Given the description of an element on the screen output the (x, y) to click on. 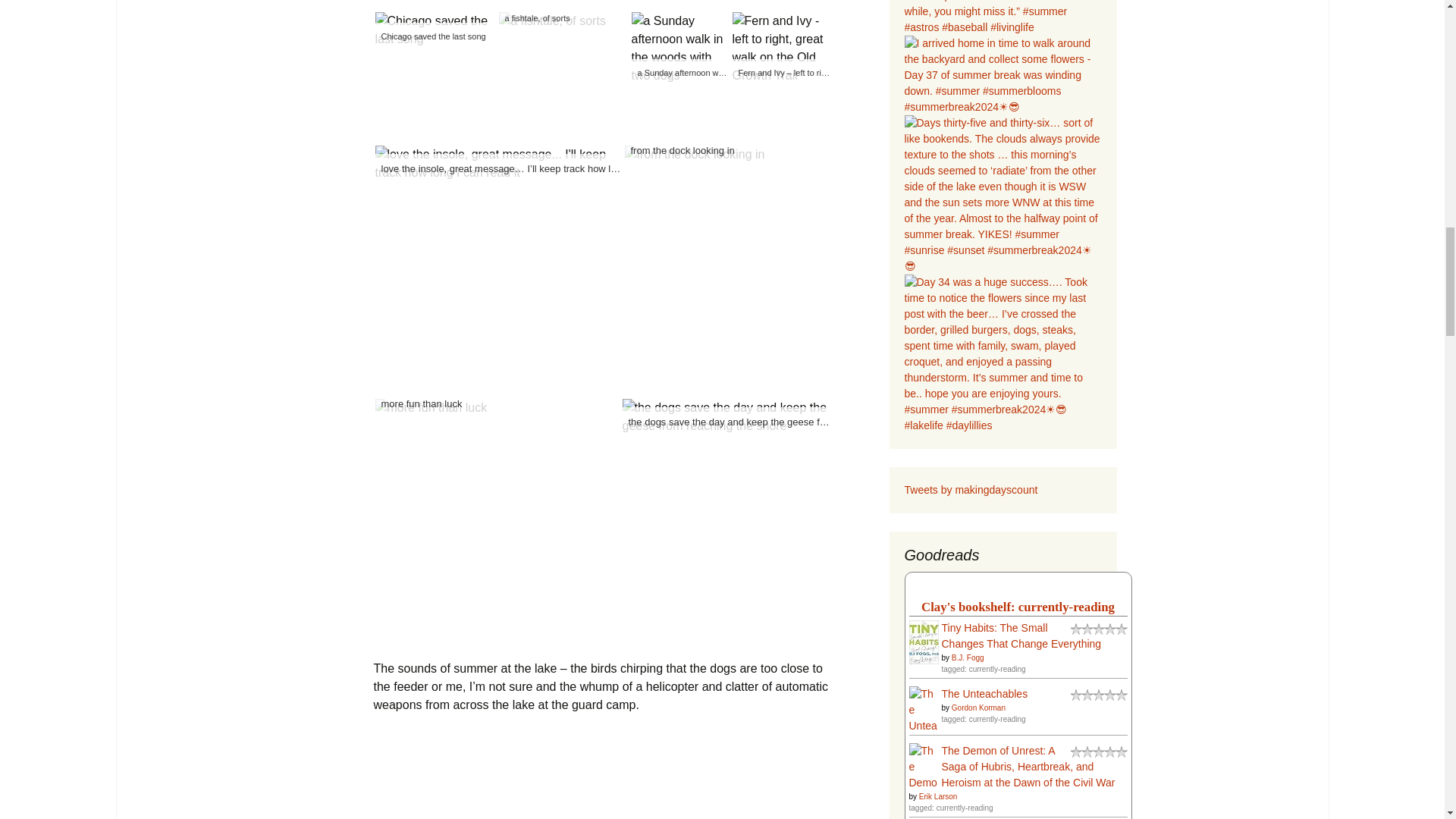
YouTube video player (584, 775)
f9f4a283-153c-4a74-8b5e-106c14a5b7d7 (694, 154)
588aa810-8c1f-4a80-b277-3dfd0fe08c8b (552, 21)
534db375-aeb5-4726-92b6-ff9e3c4191c4 (434, 30)
1624c7b0-e9f5-49d8-9471-f3205e48891e (430, 407)
4a1126e4-caed-407a-9426-0780fe6ba972 (497, 163)
ba34850e-d3e5-45bf-bc39-240273c9478b (725, 416)
